Given the description of an element on the screen output the (x, y) to click on. 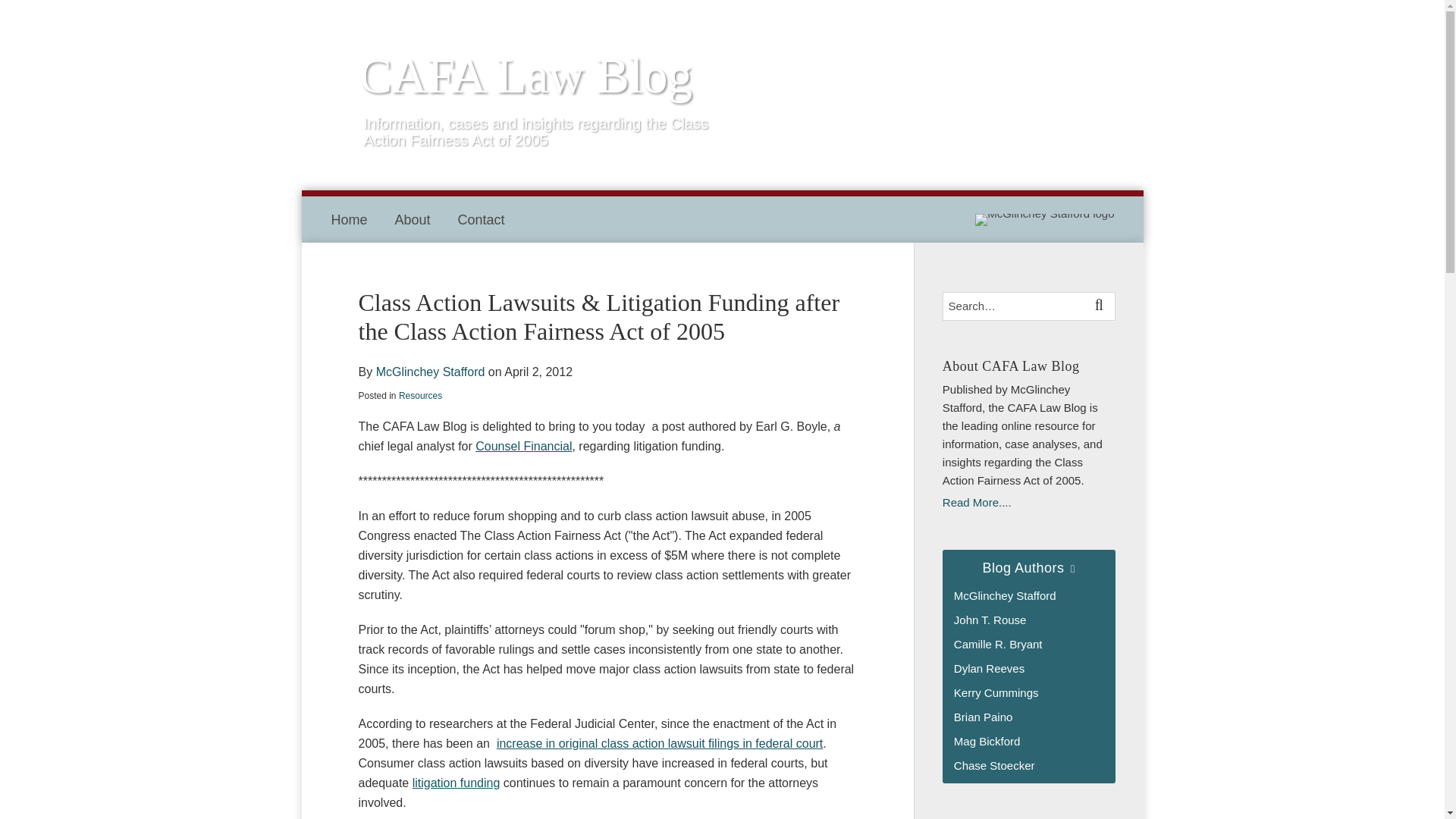
Contact (481, 219)
Home (348, 219)
Counsel Financial (524, 445)
Camille R. Bryant (997, 644)
McGlinchey Stafford (1005, 594)
Read More.... (1028, 502)
Brian Paino (983, 716)
About (412, 219)
litigation funding (456, 782)
Dylan Reeves (989, 667)
Chase Stoecker (994, 765)
John T. Rouse (989, 619)
SEARCH (1101, 306)
Kerry Cummings (996, 692)
